Given the description of an element on the screen output the (x, y) to click on. 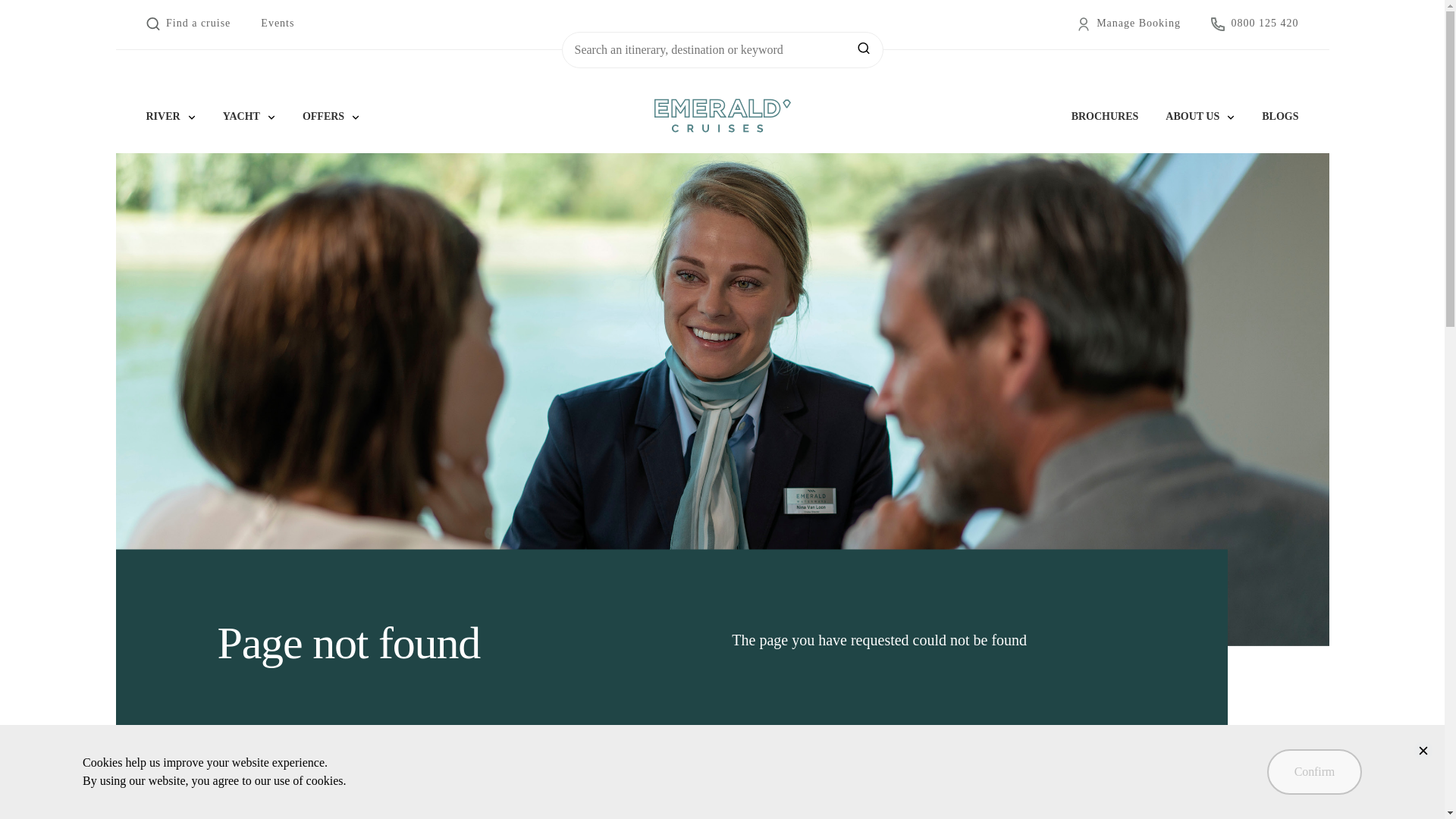
Events (277, 24)
Find a cruise (187, 24)
Manage Booking (1128, 24)
